Given the description of an element on the screen output the (x, y) to click on. 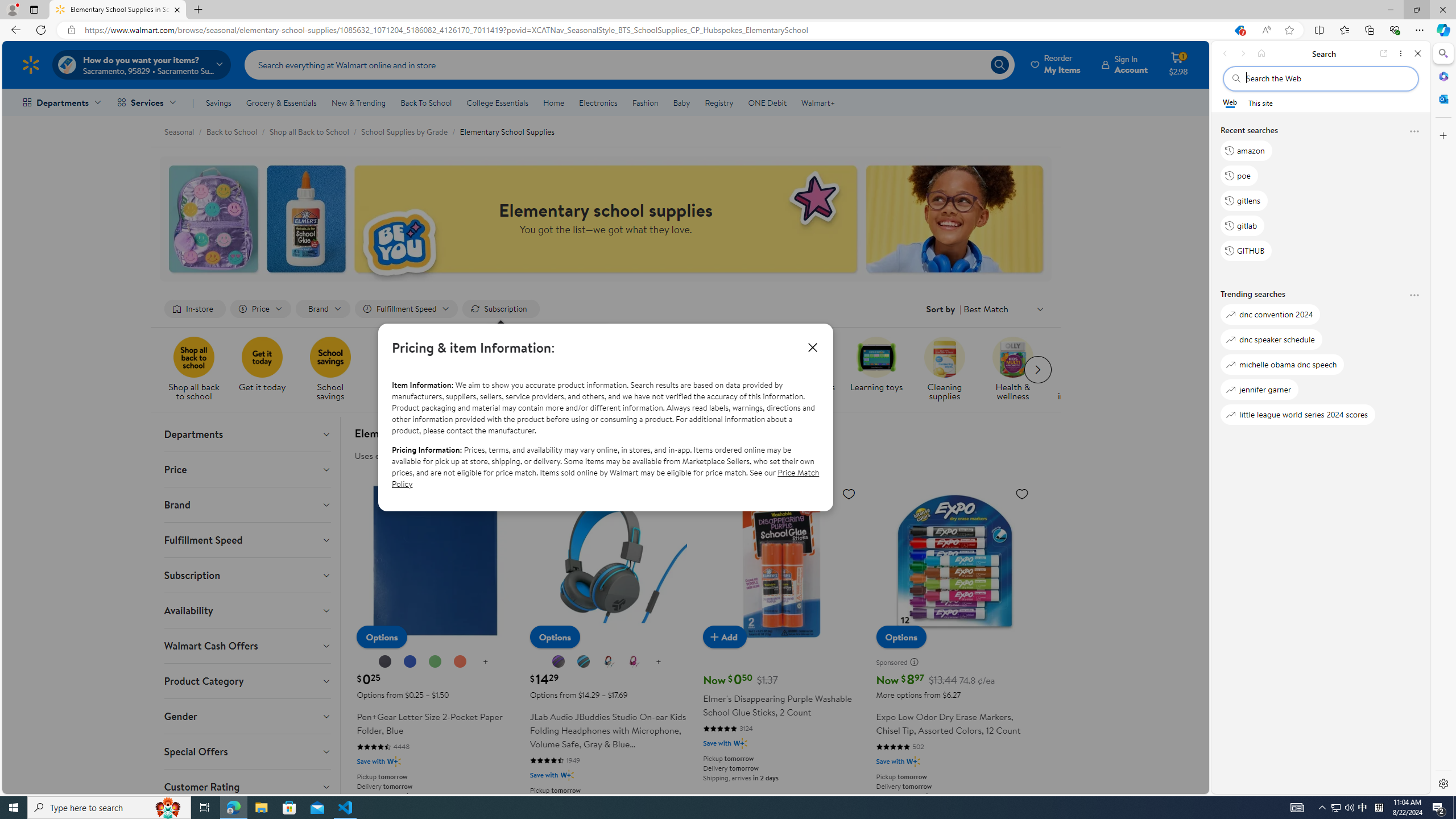
This site has coupons! Shopping in Microsoft Edge, 7 (1239, 29)
amazon (1246, 150)
poe (1238, 175)
